Given the description of an element on the screen output the (x, y) to click on. 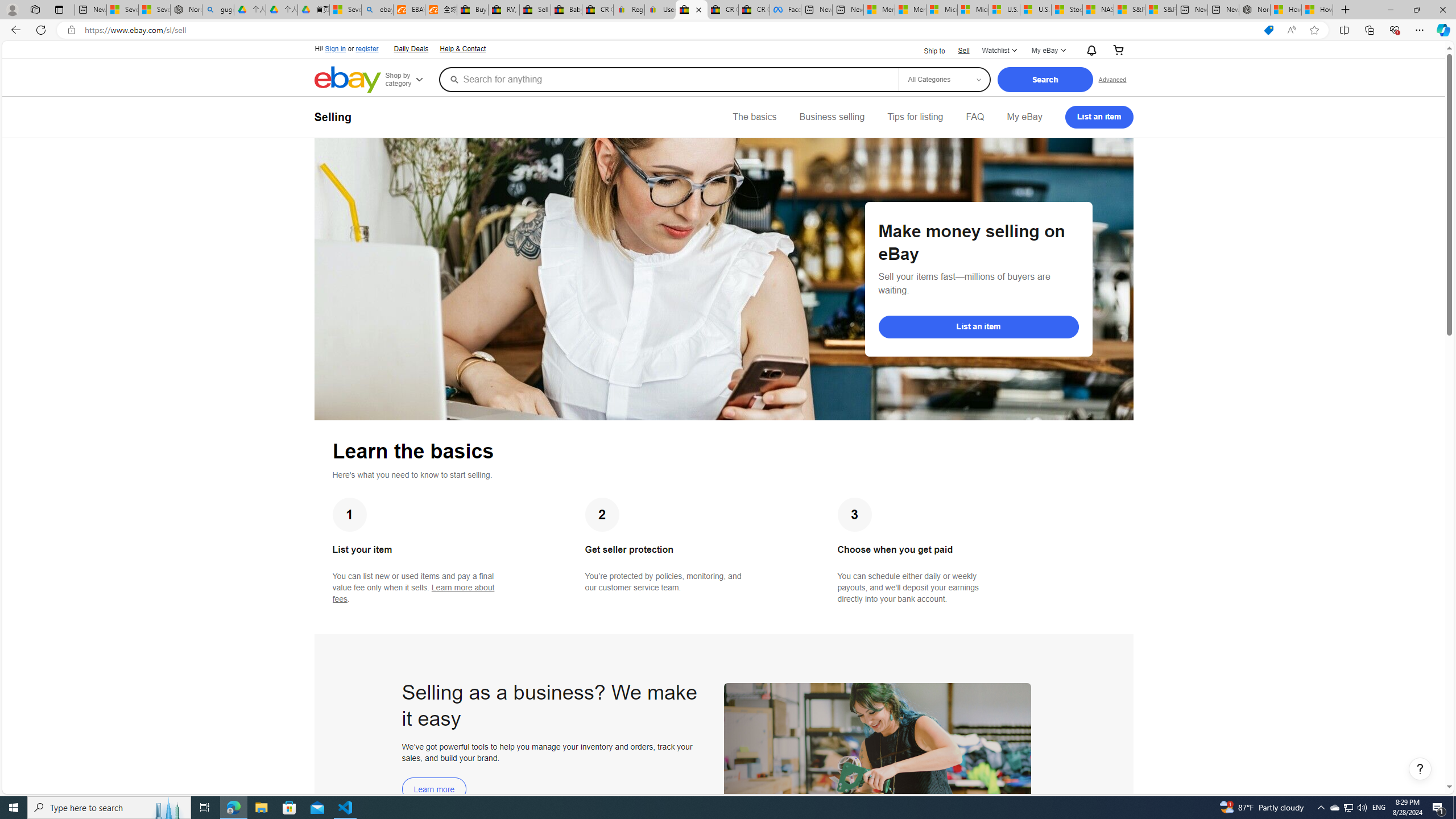
Help & Contact (462, 49)
Tips for listing (914, 116)
The basics (754, 116)
eBay Home (347, 79)
List an item (977, 326)
This site has coupons! Shopping in Microsoft Edge (1268, 29)
guge yunpan - Search (218, 9)
The basics (754, 116)
